Given the description of an element on the screen output the (x, y) to click on. 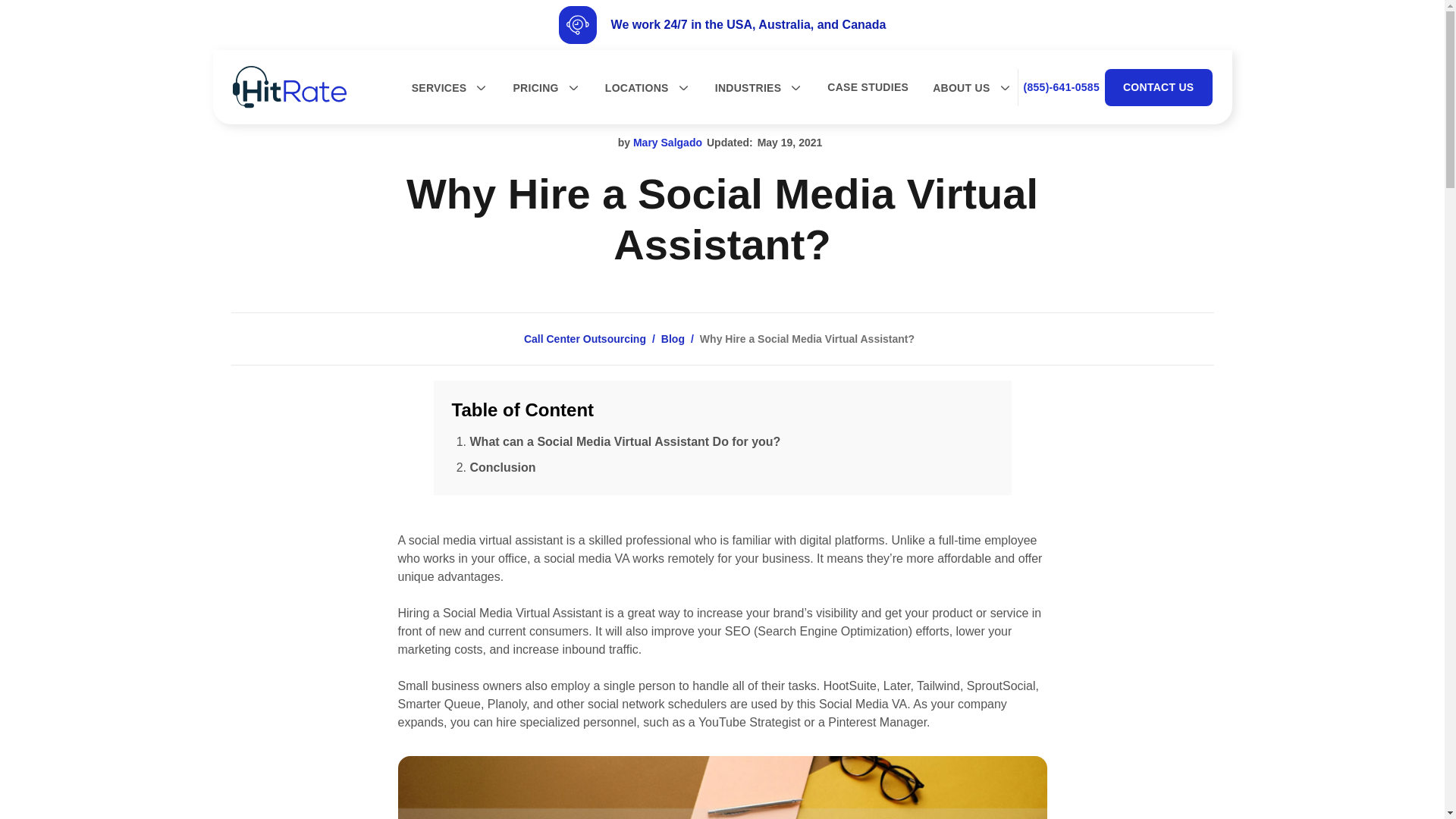
Call Center Outsourcing (585, 343)
Mary Salgado (667, 142)
CONTACT US (1158, 86)
CASE STUDIES (867, 86)
Blog (672, 343)
